Given the description of an element on the screen output the (x, y) to click on. 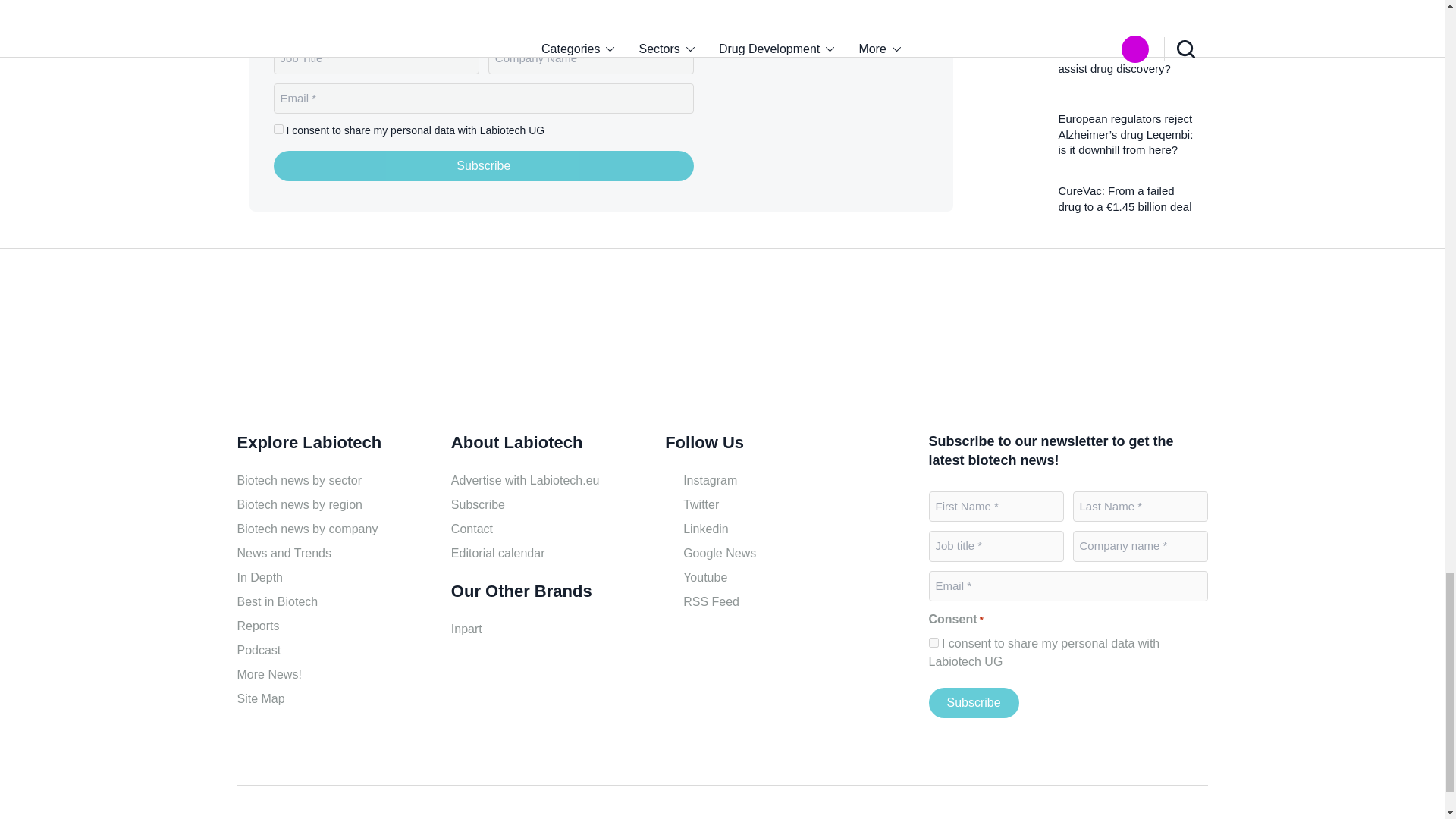
Subscribe (972, 702)
Labiotech.eu (834, 106)
1 (932, 642)
Labiotech.eu (309, 346)
1 (277, 129)
Subscribe (483, 165)
